Given the description of an element on the screen output the (x, y) to click on. 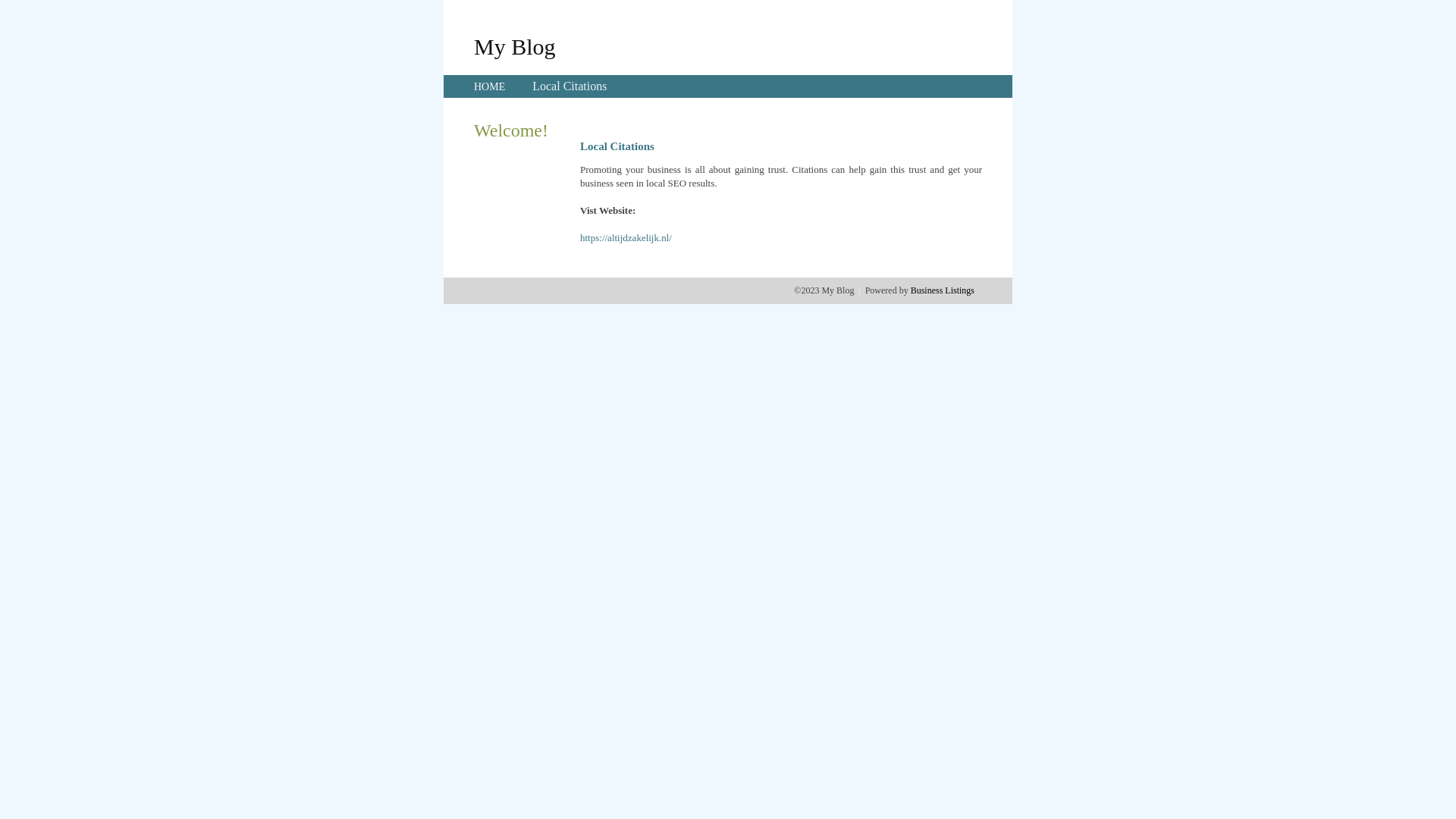
My Blog Element type: text (514, 46)
HOME Element type: text (489, 86)
Local Citations Element type: text (569, 85)
Business Listings Element type: text (942, 290)
https://altijdzakelijk.nl/ Element type: text (625, 237)
